Given the description of an element on the screen output the (x, y) to click on. 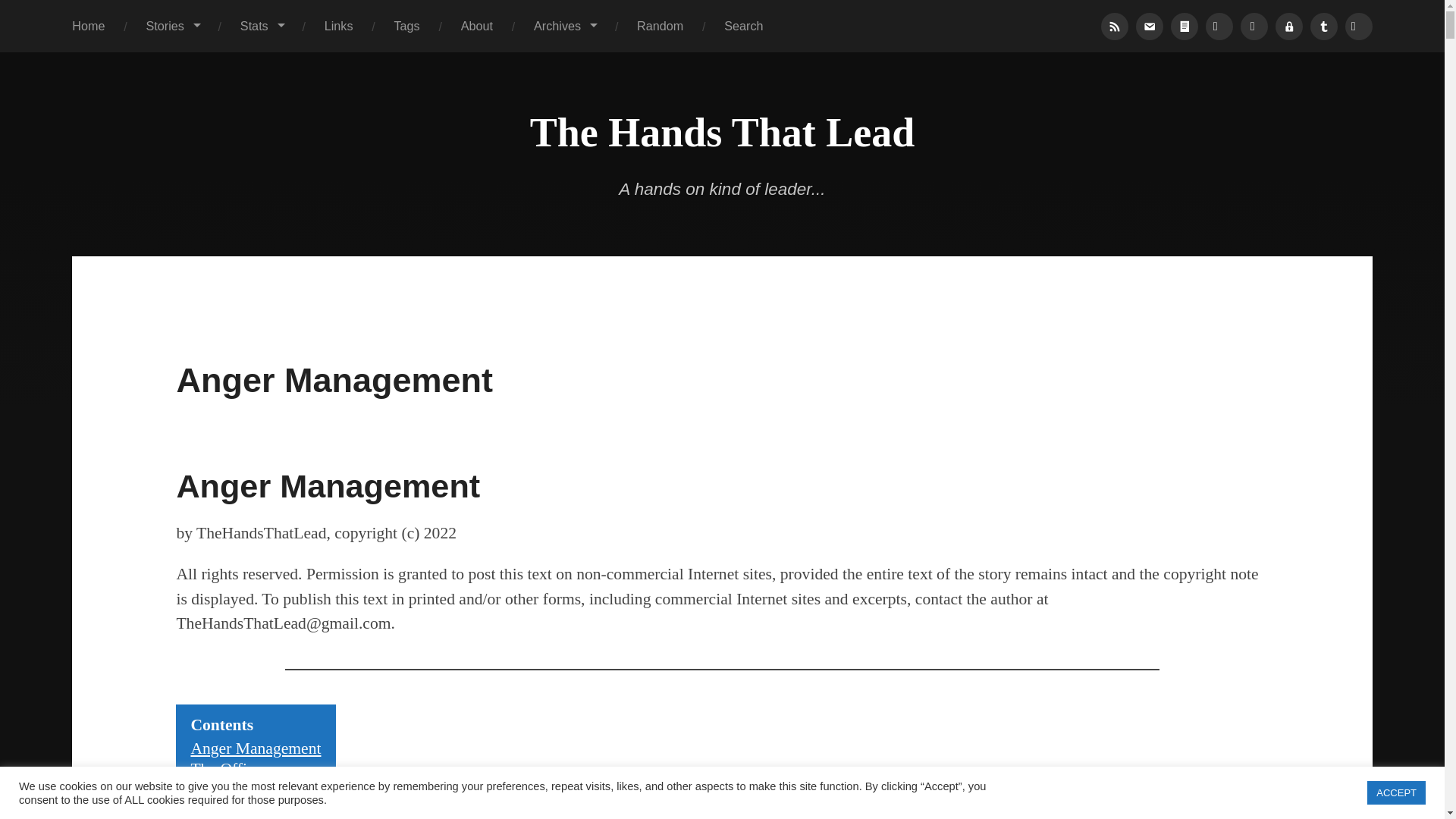
Home (87, 26)
Tags (407, 26)
Links (339, 26)
Stories (172, 26)
Stats (261, 26)
Random (659, 26)
Search (743, 26)
About (477, 26)
Archives (564, 26)
